Given the description of an element on the screen output the (x, y) to click on. 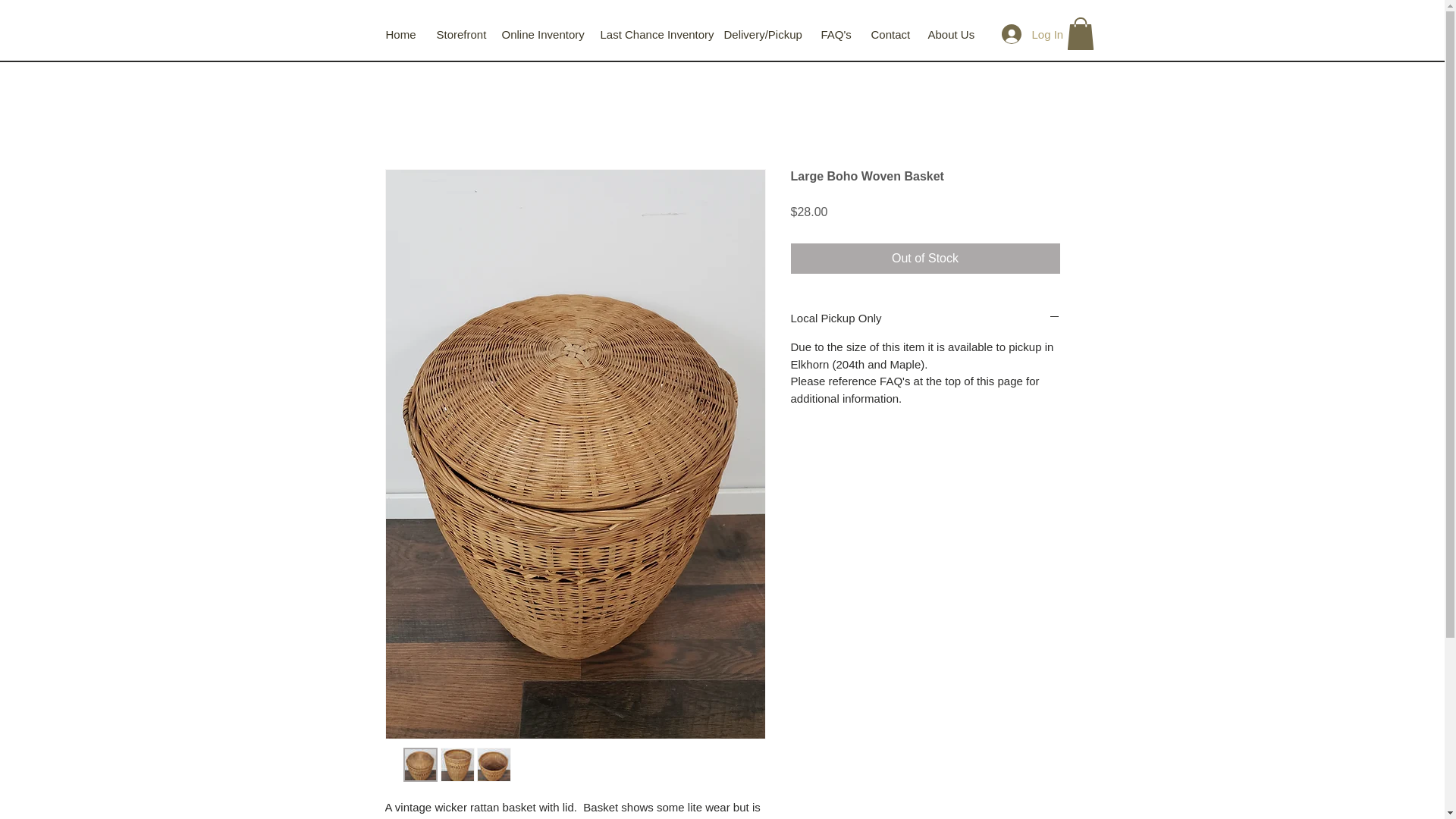
Out of Stock (924, 258)
Storefront (467, 33)
Last Chance Inventory (659, 33)
FAQ's (844, 33)
Home (408, 33)
Online Inventory (549, 33)
About Us (959, 33)
Contact (897, 33)
Log In (1022, 33)
Local Pickup Only (924, 317)
